Given the description of an element on the screen output the (x, y) to click on. 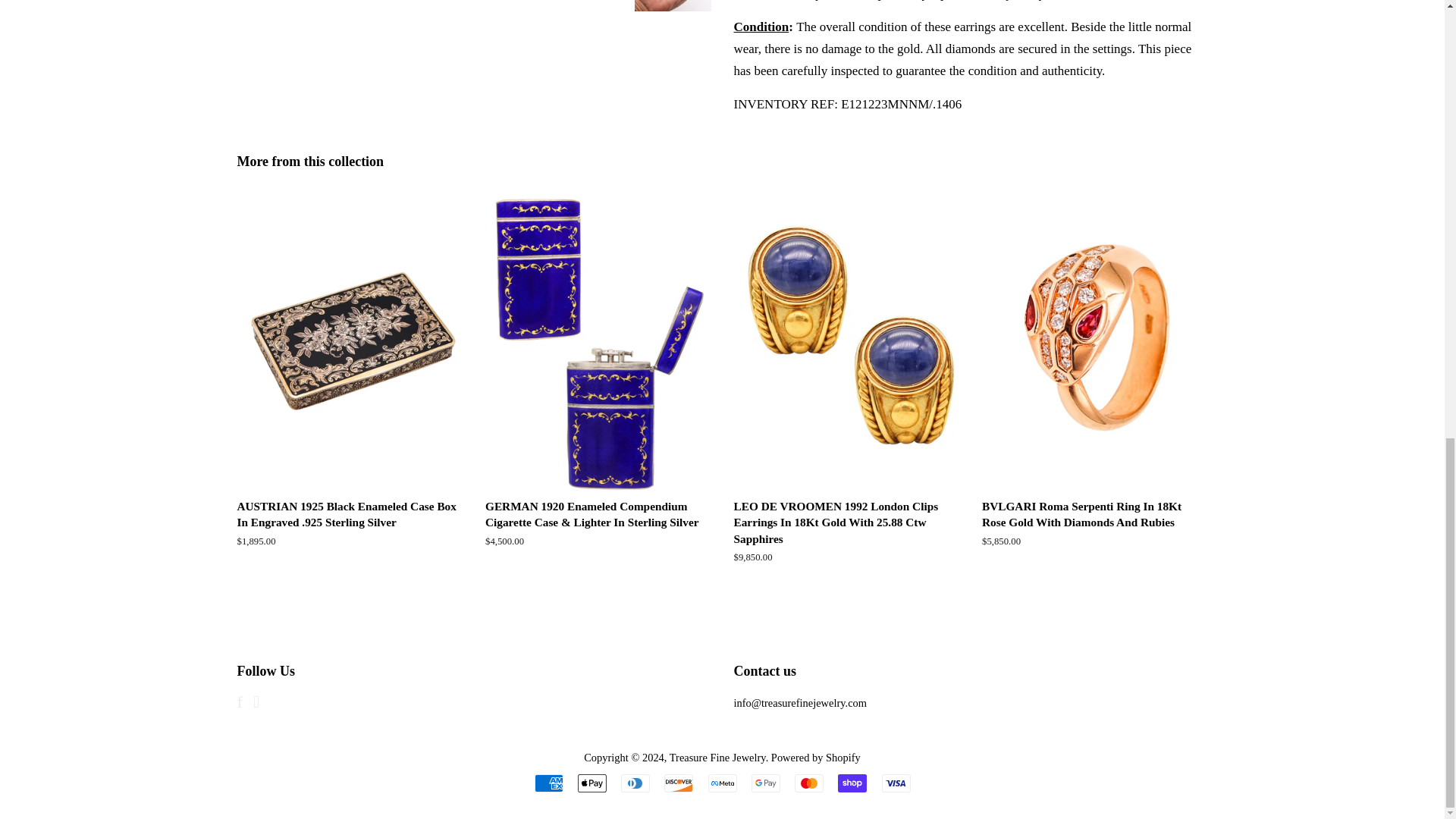
Shop Pay (852, 782)
Mastercard (809, 782)
American Express (548, 782)
Google Pay (765, 782)
Treasure Fine Jewelry (717, 757)
Apple Pay (592, 782)
Diners Club (635, 782)
Visa (895, 782)
Discover (678, 782)
Meta Pay (721, 782)
